Given the description of an element on the screen output the (x, y) to click on. 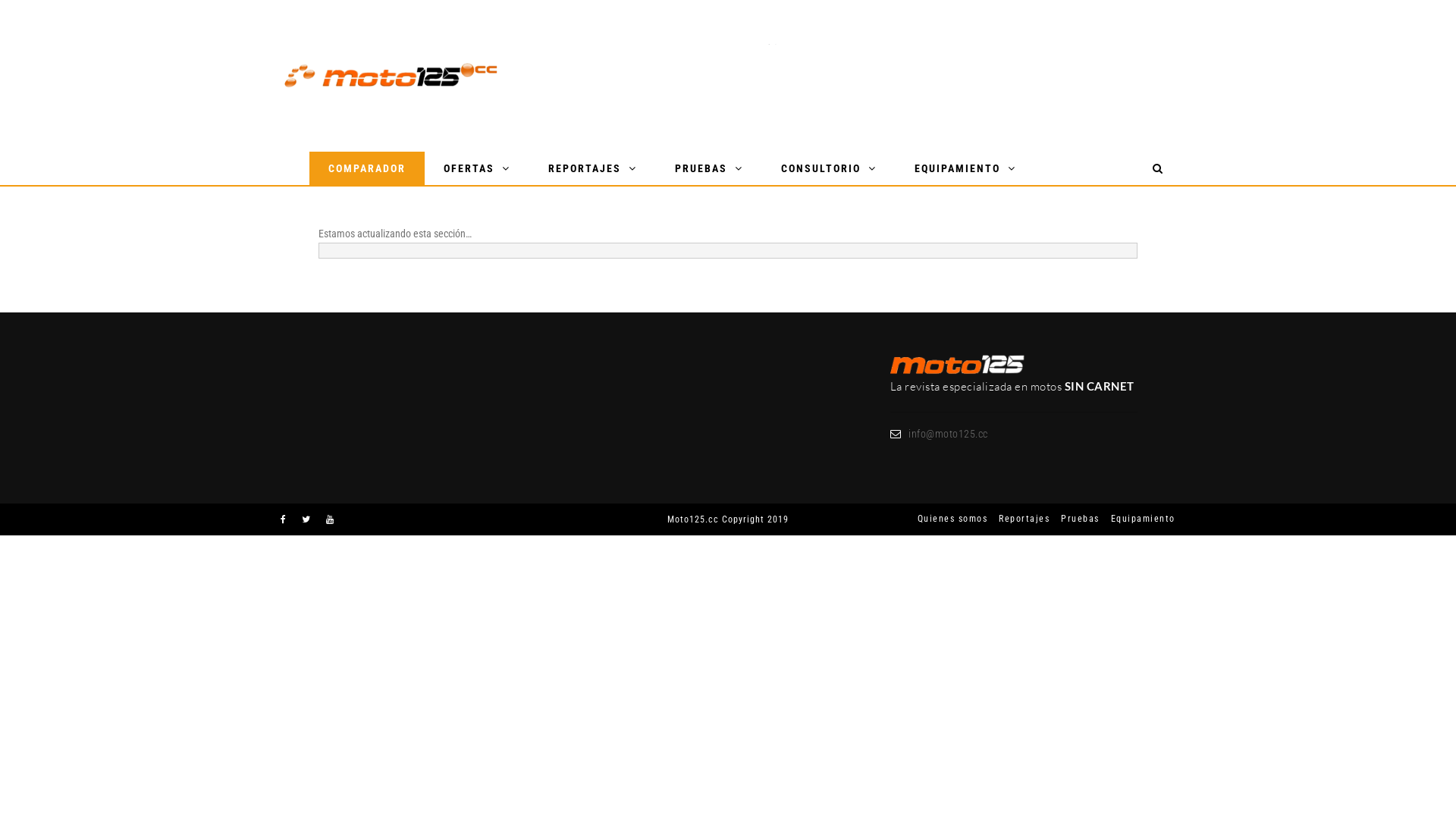
REPORTAJES Element type: text (592, 168)
Equipamiento Element type: text (1137, 518)
CONSULTORIO Element type: text (828, 168)
EQUIPAMIENTO Element type: text (965, 168)
OFERTAS Element type: text (476, 168)
Quienes somos Element type: text (947, 518)
contact Image Element type: hover (957, 365)
COMPARADOR Element type: text (366, 168)
PRUEBAS Element type: text (708, 168)
Pruebas Element type: text (1074, 518)
Reportajes Element type: text (1018, 518)
